Given the description of an element on the screen output the (x, y) to click on. 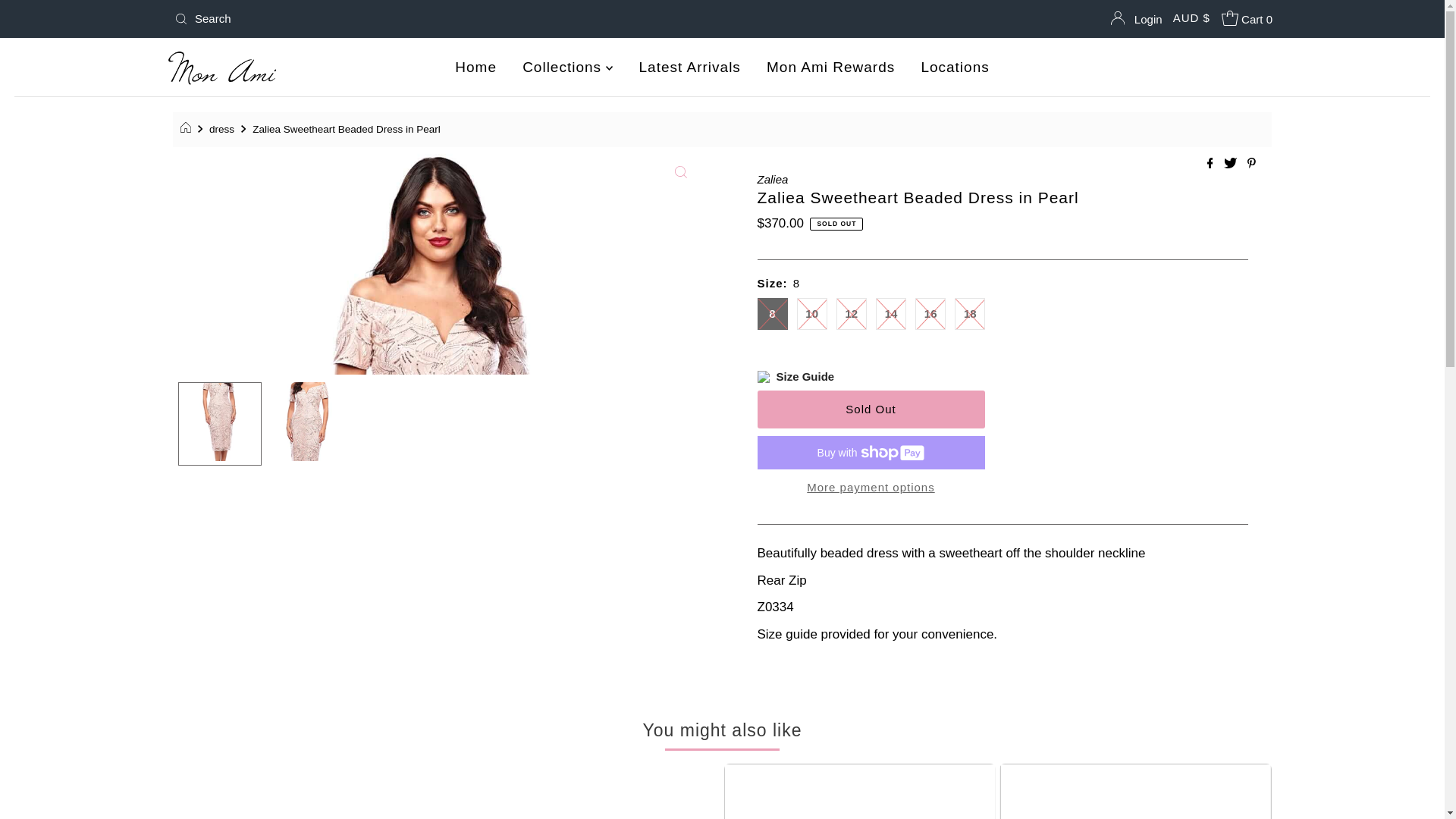
dress (223, 129)
Share on Twitter (1232, 164)
Sold Out (870, 409)
Home (476, 67)
Click to zoom (680, 171)
